Given the description of an element on the screen output the (x, y) to click on. 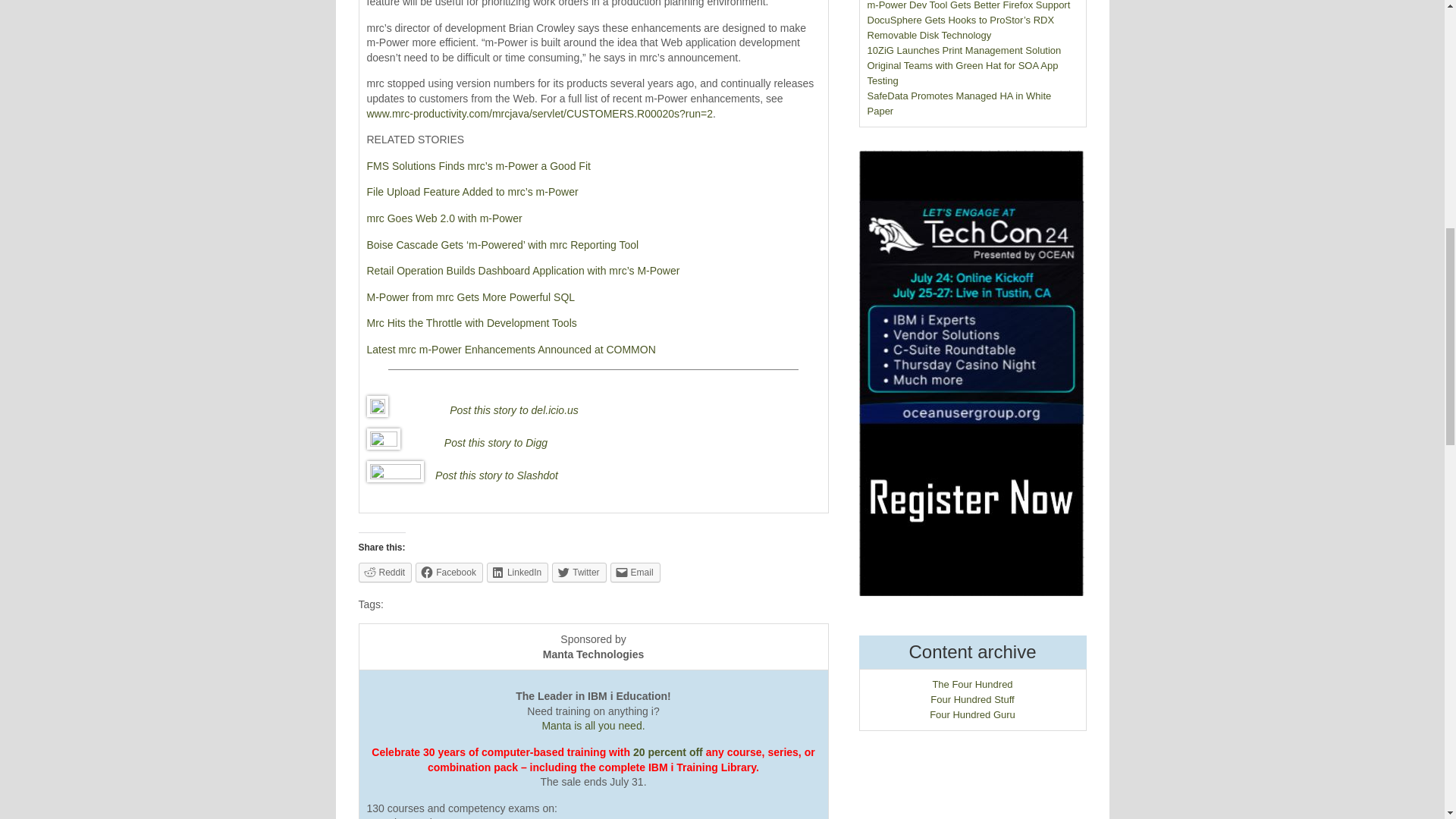
Click to share on Twitter (578, 572)
Post this story to Digg (495, 442)
Click to email a link to a friend (635, 572)
Twitter (578, 572)
Post this story to Slashdot (496, 475)
Email (635, 572)
20 percent off (668, 752)
Latest mrc m-Power Enhancements Announced at COMMON (511, 349)
Manta is all you need. (593, 725)
M-Power from mrc Gets More Powerful SQL (470, 297)
Click to share on Reddit (385, 572)
Mrc Hits the Throttle with Development Tools (471, 322)
mrc Goes Web 2.0 with m-Power (444, 218)
Reddit (385, 572)
Click to share on Facebook (448, 572)
